Given the description of an element on the screen output the (x, y) to click on. 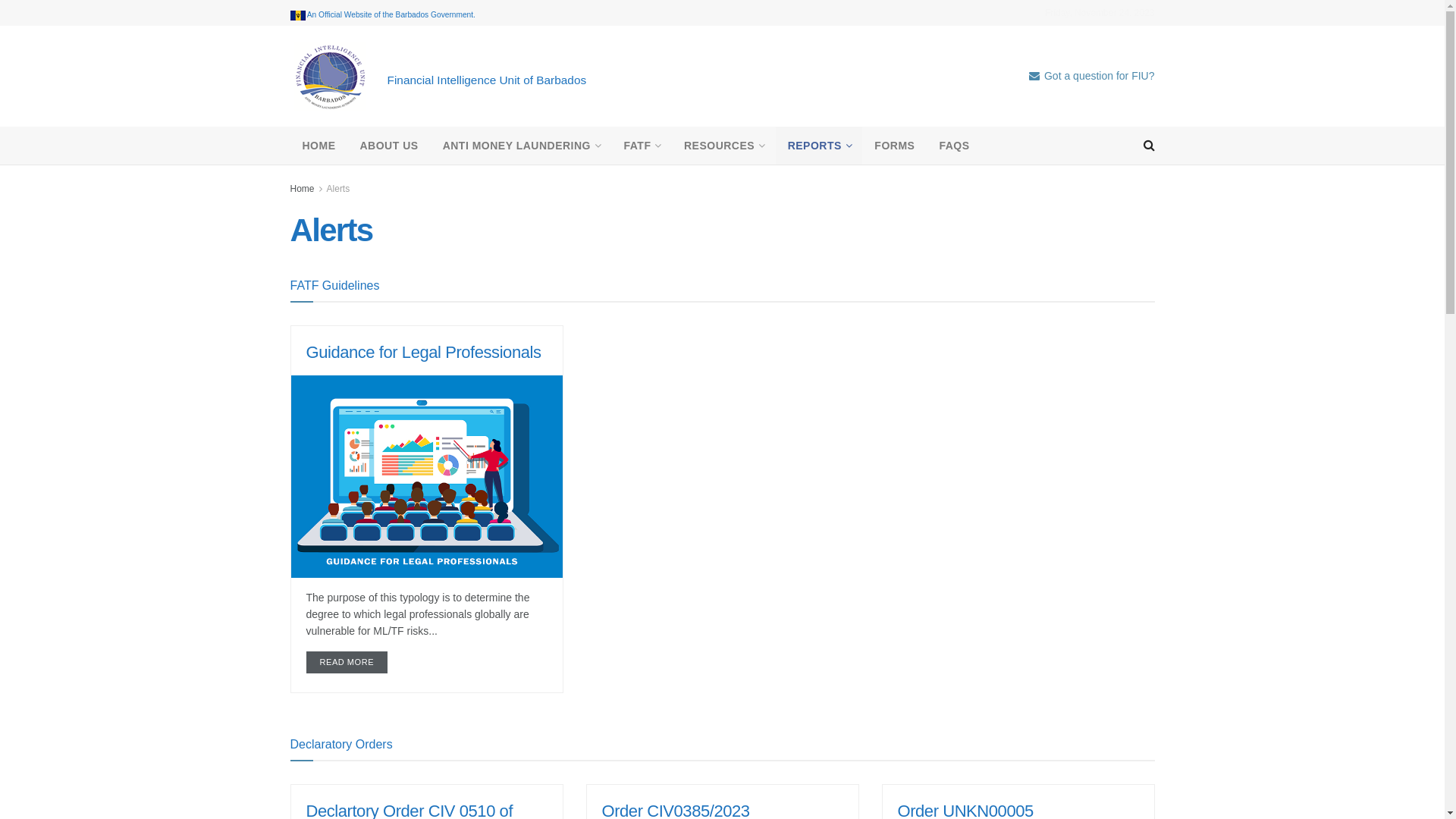
Alerts Element type: text (338, 188)
FORMS Element type: text (894, 145)
REPORTS Element type: text (818, 145)
ABOUT US Element type: text (388, 145)
Guidance for Legal Professionals Element type: text (423, 351)
Home Element type: text (301, 188)
FATF Element type: text (641, 145)
Got a question for FIU? Element type: text (1091, 75)
READ MORE Element type: text (347, 662)
FAQS Element type: text (953, 145)
RESOURCES Element type: text (723, 145)
HOME Element type: text (318, 145)
ANTI MONEY LAUNDERING Element type: text (520, 145)
